Given the description of an element on the screen output the (x, y) to click on. 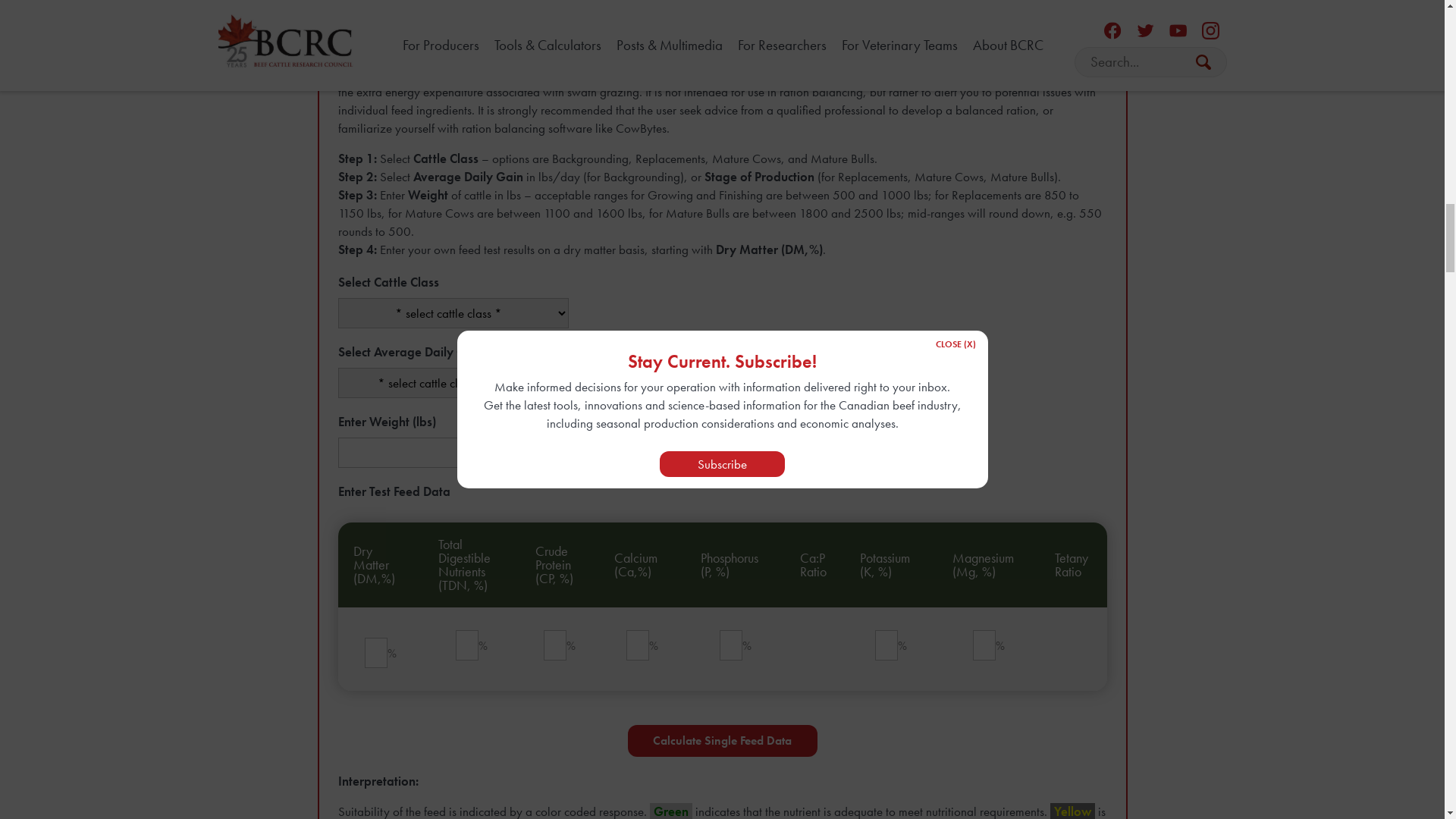
Obtaining Feed Samples Element type: text (429, 626)
What About Water? Element type: text (417, 806)
Interpreting Lab Results Element type: text (425, 754)
Meeting Nutrient Requirements for Cattle Element type: text (470, 729)
Near Infrared Reflectance Spectroscopy (NIRS) Element type: text (486, 703)
What Should I Test For? Element type: text (425, 651)
Preventing Problems Element type: text (417, 780)
Why feed test? Element type: text (403, 574)
How to Interpret Results Element type: text (426, 677)
A Tool for Evaluating Feed Test Results Element type: text (472, 600)
